Given the description of an element on the screen output the (x, y) to click on. 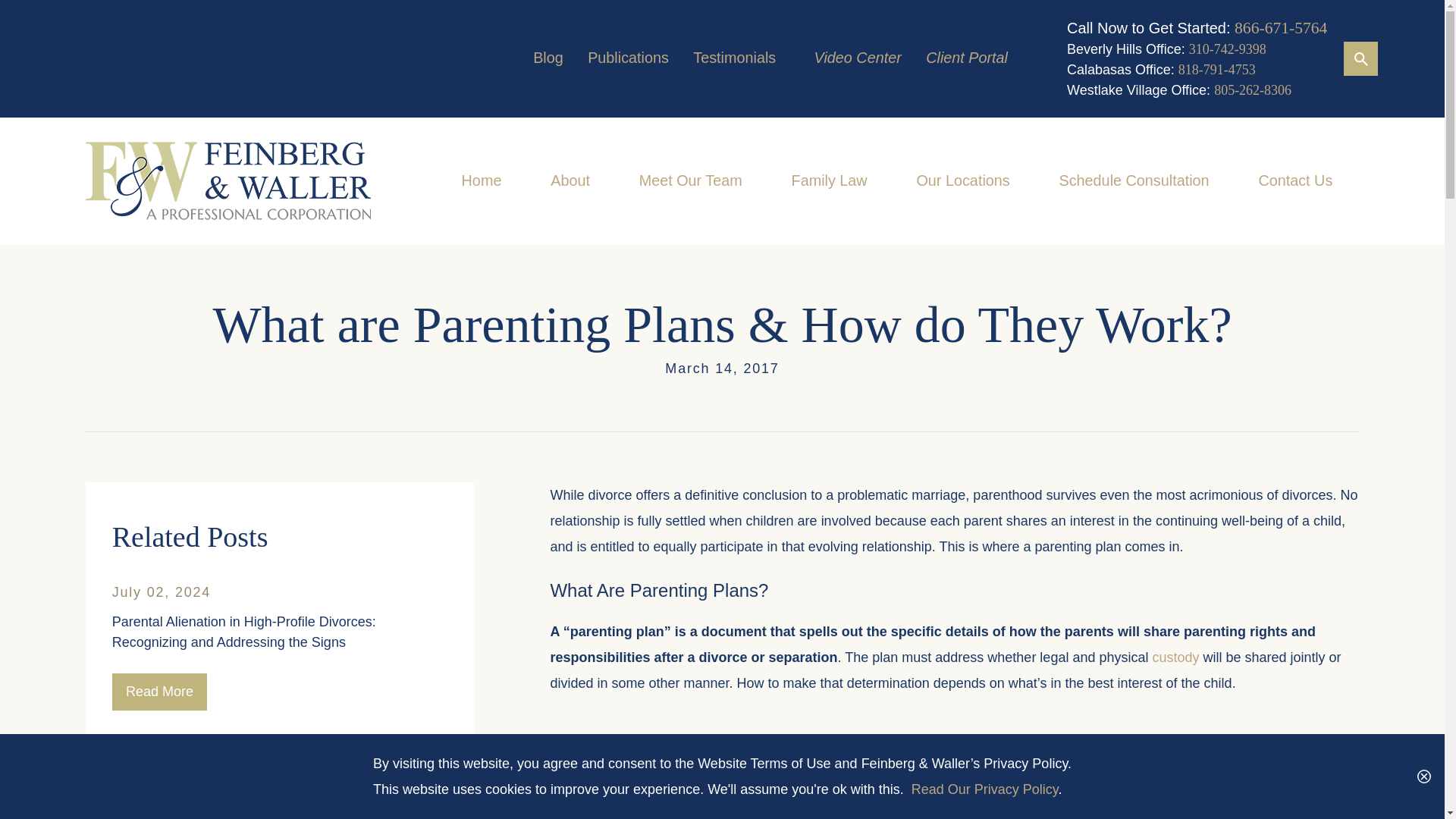
805-262-8306 (1252, 89)
Family Law (829, 181)
View next item (193, 742)
Search Icon (1361, 58)
View previous item (121, 742)
866-671-5764 (1280, 27)
Blog (547, 57)
Testimonials (734, 57)
Publications (628, 57)
Client Portal (966, 57)
